Given the description of an element on the screen output the (x, y) to click on. 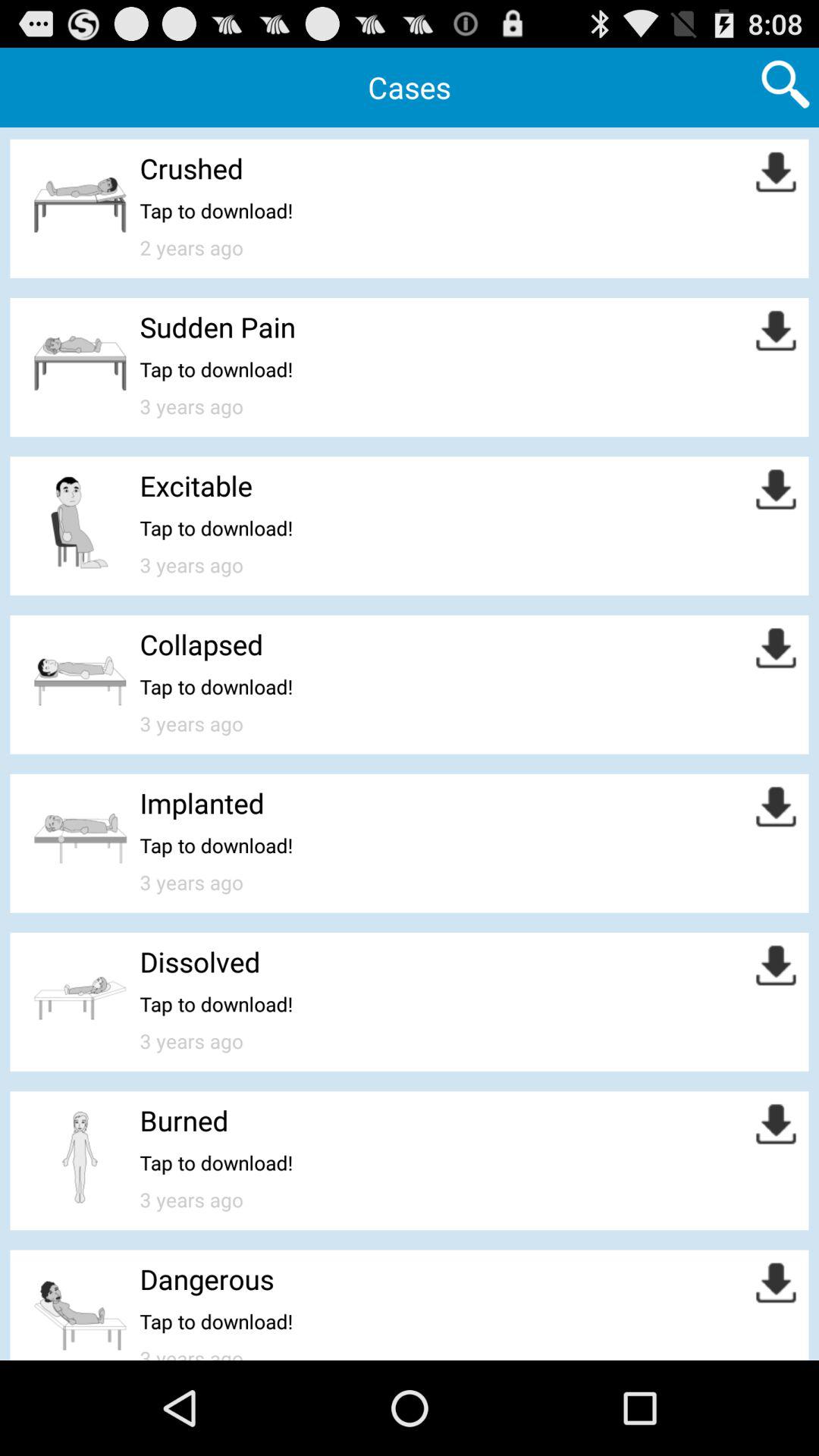
tap item above tap to download! icon (191, 168)
